Given the description of an element on the screen output the (x, y) to click on. 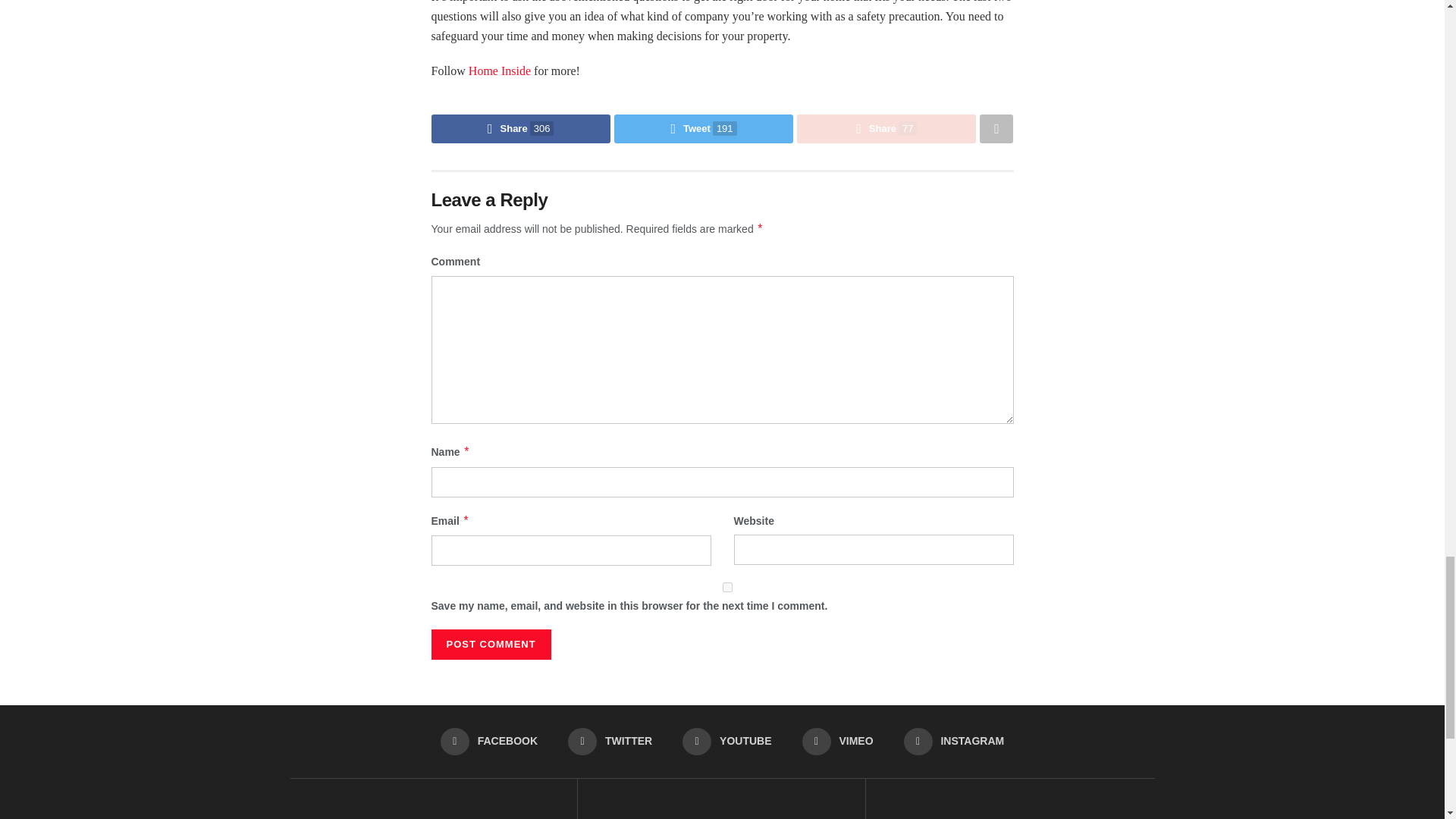
Share306 (520, 128)
yes (727, 587)
Home Inside (499, 70)
Tweet191 (703, 128)
Post Comment (490, 644)
